Given the description of an element on the screen output the (x, y) to click on. 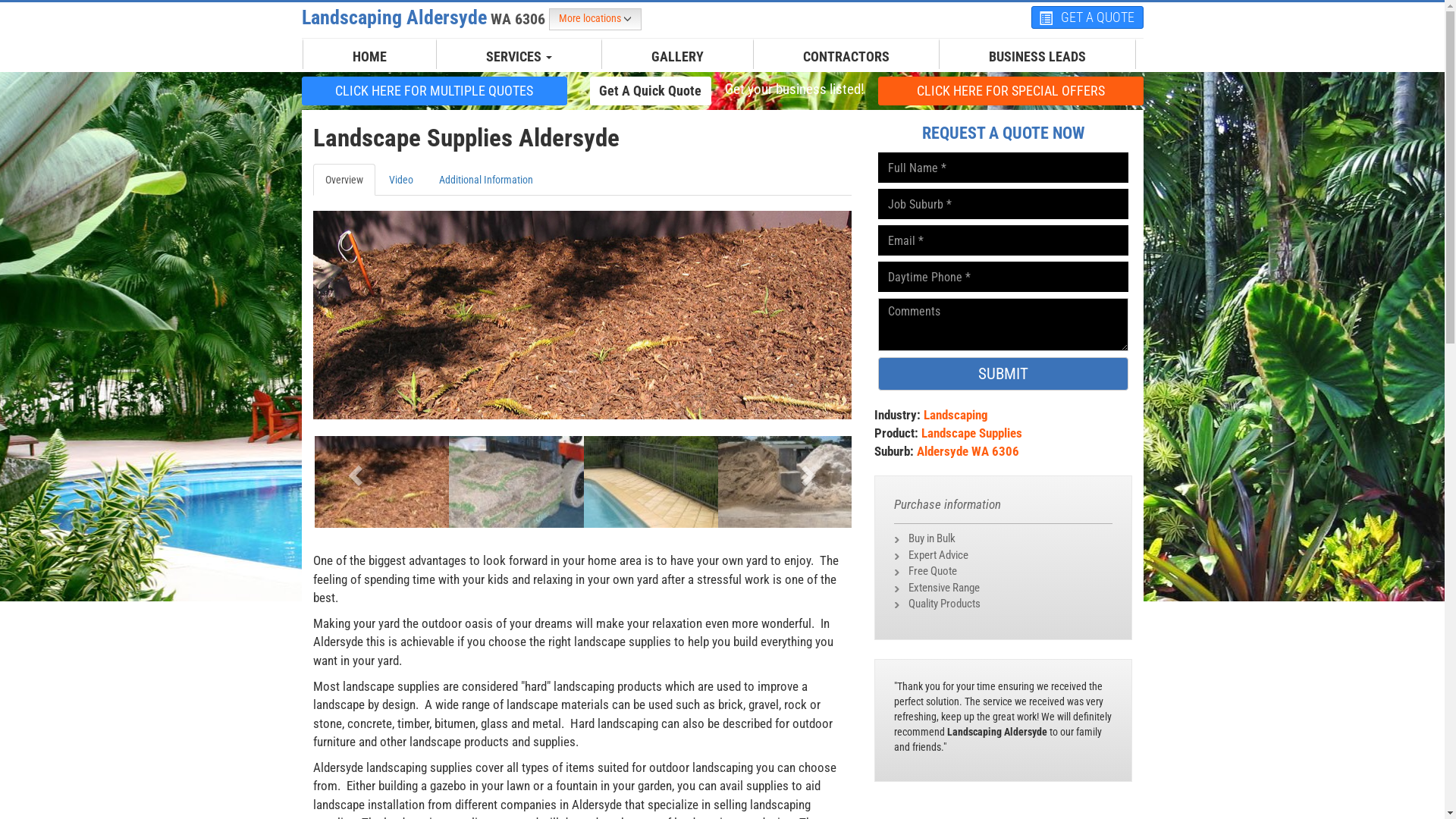
SERVICES Element type: text (518, 56)
Get your business listed! Element type: text (793, 89)
GALLERY Element type: text (677, 56)
Get A Quick Quote Element type: text (650, 90)
CLICK HERE FOR MULTIPLE QUOTES Element type: text (434, 90)
Video Element type: text (400, 179)
GET A QUOTE Element type: text (1087, 17)
Landscaping Aldersyde WA 6306 Element type: text (425, 17)
BUSINESS LEADS Element type: text (1036, 56)
CLICK HERE FOR SPECIAL OFFERS Element type: text (1010, 90)
CLICK HERE FOR SPECIAL OFFERS Element type: text (1010, 90)
CLICK HERE FOR MULTIPLE QUOTES Element type: text (434, 90)
Overview Element type: text (343, 179)
Get A Quick Quote Element type: text (650, 90)
More locations Element type: text (595, 19)
SUBMIT Element type: text (1003, 373)
CONTRACTORS Element type: text (845, 56)
prev Element type: hover (352, 470)
HOME Element type: text (369, 56)
Additional Information Element type: text (485, 179)
